Given the description of an element on the screen output the (x, y) to click on. 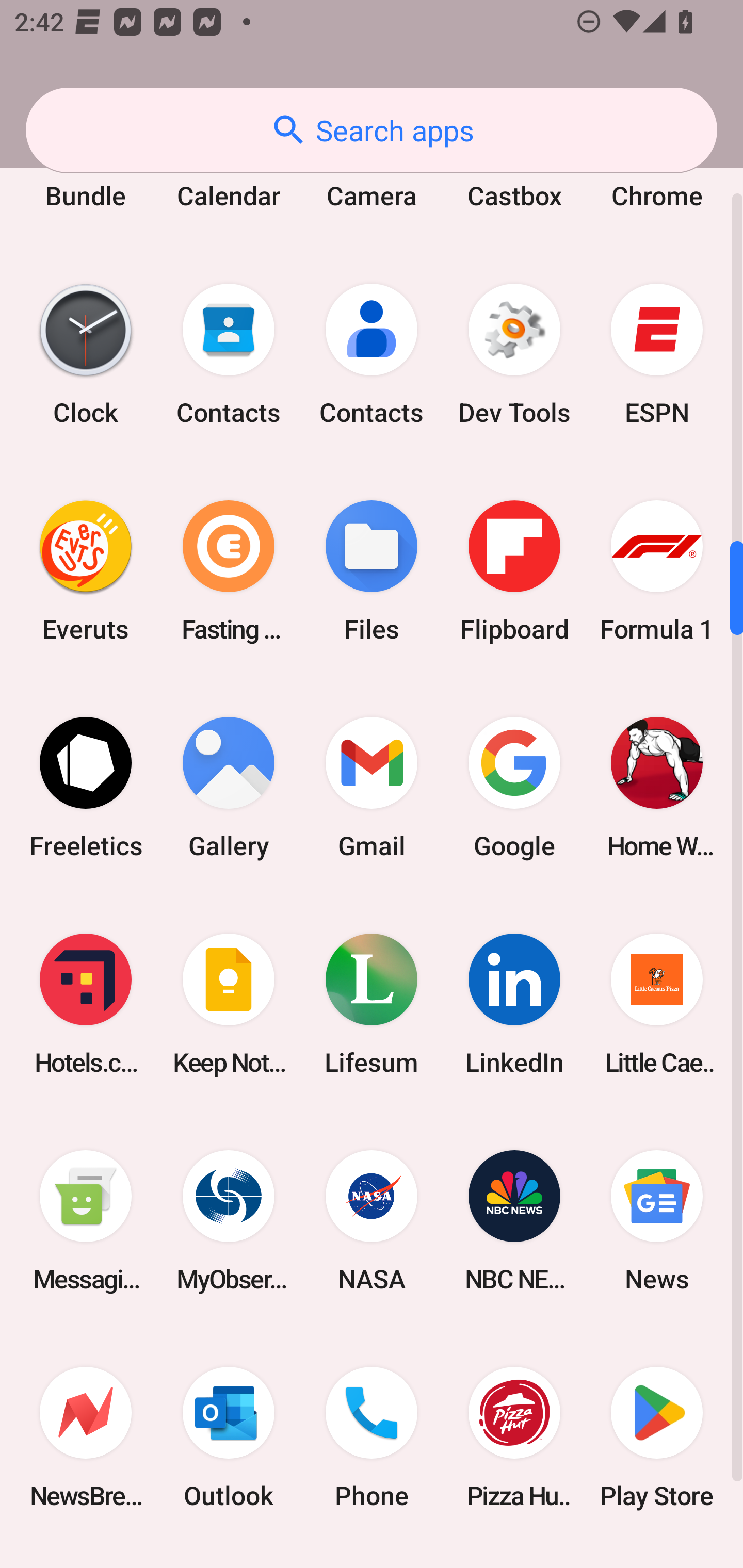
  Search apps (371, 130)
Clock (85, 354)
Contacts (228, 354)
Contacts (371, 354)
Dev Tools (514, 354)
ESPN (656, 354)
Everuts (85, 570)
Fasting Coach (228, 570)
Files (371, 570)
Flipboard (514, 570)
Formula 1 (656, 570)
Freeletics (85, 786)
Gallery (228, 786)
Gmail (371, 786)
Google (514, 786)
Home Workout (656, 786)
Hotels.com (85, 1004)
Keep Notes (228, 1004)
Lifesum (371, 1004)
LinkedIn (514, 1004)
Little Caesars Pizza (656, 1004)
Messaging (85, 1221)
MyObservatory (228, 1221)
NASA (371, 1221)
NBC NEWS (514, 1221)
News (656, 1221)
NewsBreak (85, 1437)
Outlook (228, 1437)
Phone (371, 1437)
Pizza Hut HK & Macau (514, 1437)
Play Store (656, 1437)
